Given the description of an element on the screen output the (x, y) to click on. 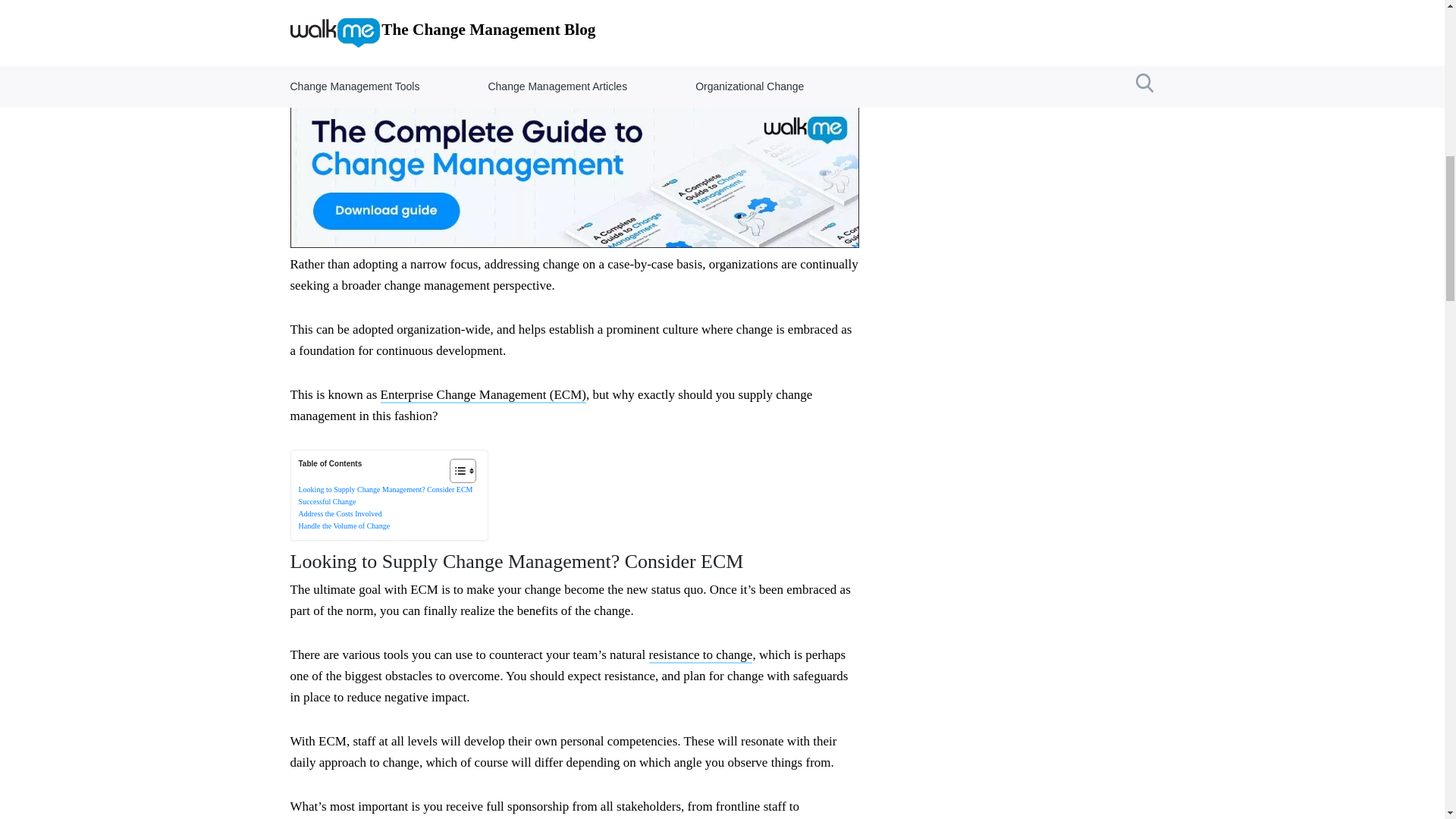
Successful Change (327, 501)
Looking to Supply Change Management? Consider ECM (385, 489)
Address the Costs Involved (339, 513)
resistance to change (700, 655)
Handle the Volume of Change (344, 525)
Successful Change (327, 501)
Address the Costs Involved (339, 513)
Looking to Supply Change Management? Consider ECM (385, 489)
Handle the Volume of Change (344, 525)
